Given the description of an element on the screen output the (x, y) to click on. 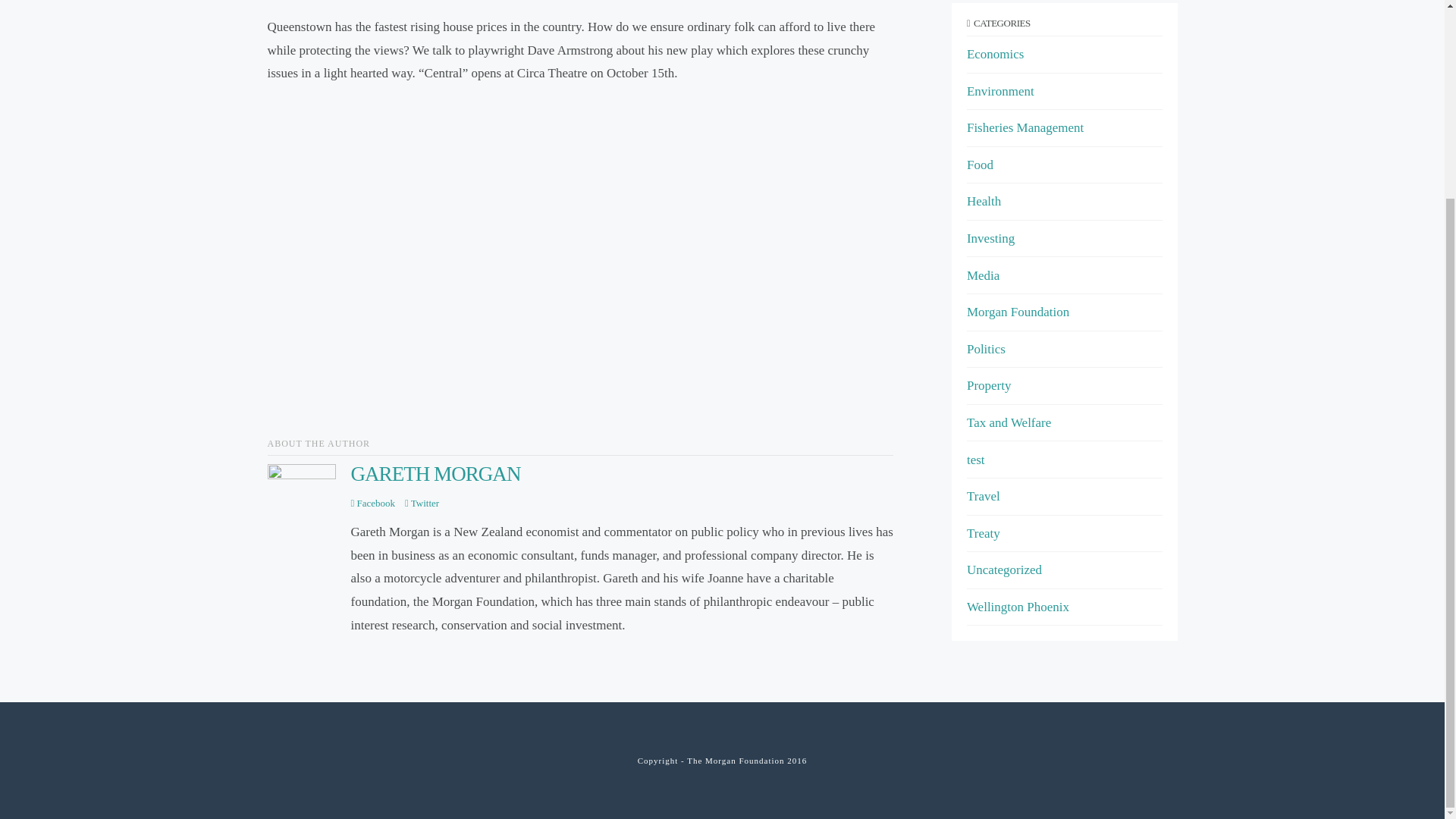
Visit the Twitter Profile for Gareth Morgan (421, 502)
Visit the Facebook Profile for Gareth Morgan (372, 502)
